Given the description of an element on the screen output the (x, y) to click on. 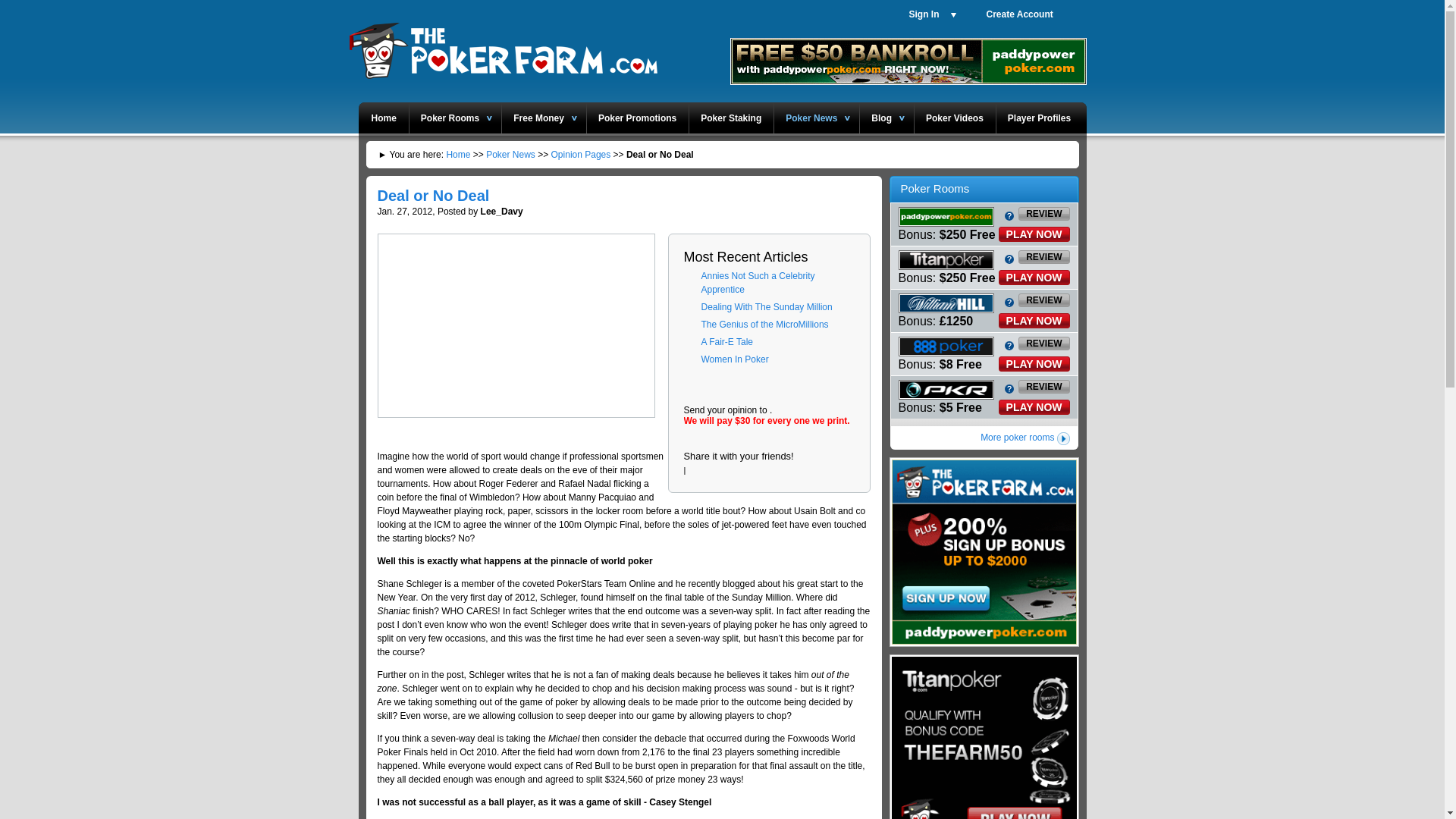
REVIEW (1042, 213)
A Fair-E Tale (726, 341)
Dealing With The Sunday Million (765, 307)
Player Profiles (1036, 116)
Player Profiles (1036, 116)
REVIEW (1042, 256)
Poker Rooms (449, 116)
Poker Promotions (636, 116)
Poker News (510, 154)
Home (383, 116)
